Given the description of an element on the screen output the (x, y) to click on. 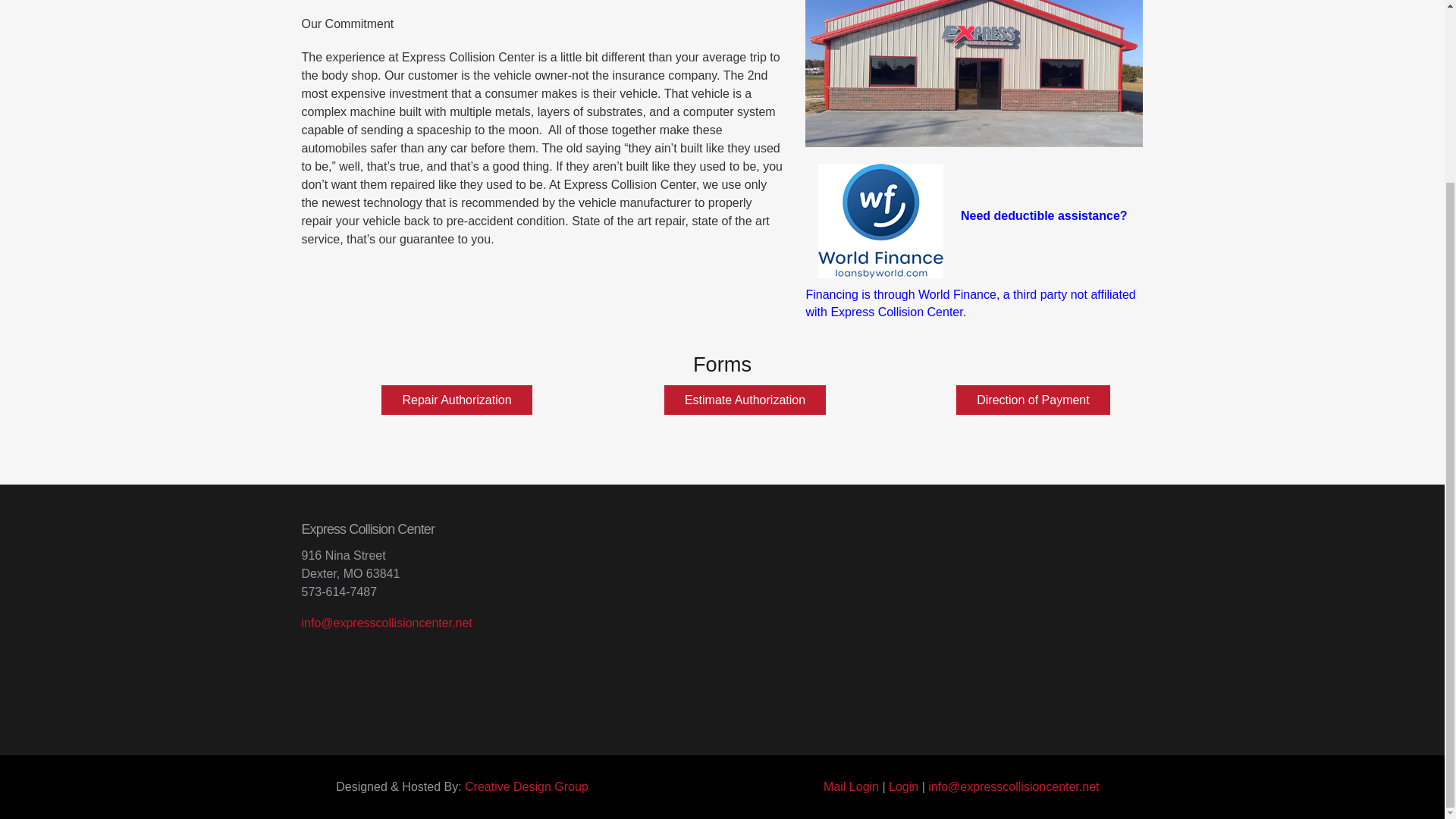
Creative Design Group (526, 786)
Direction of Payment (1032, 399)
Estimate Authorization (744, 399)
Mail Login (851, 786)
Login (903, 786)
Repair Authorization (456, 399)
